Given the description of an element on the screen output the (x, y) to click on. 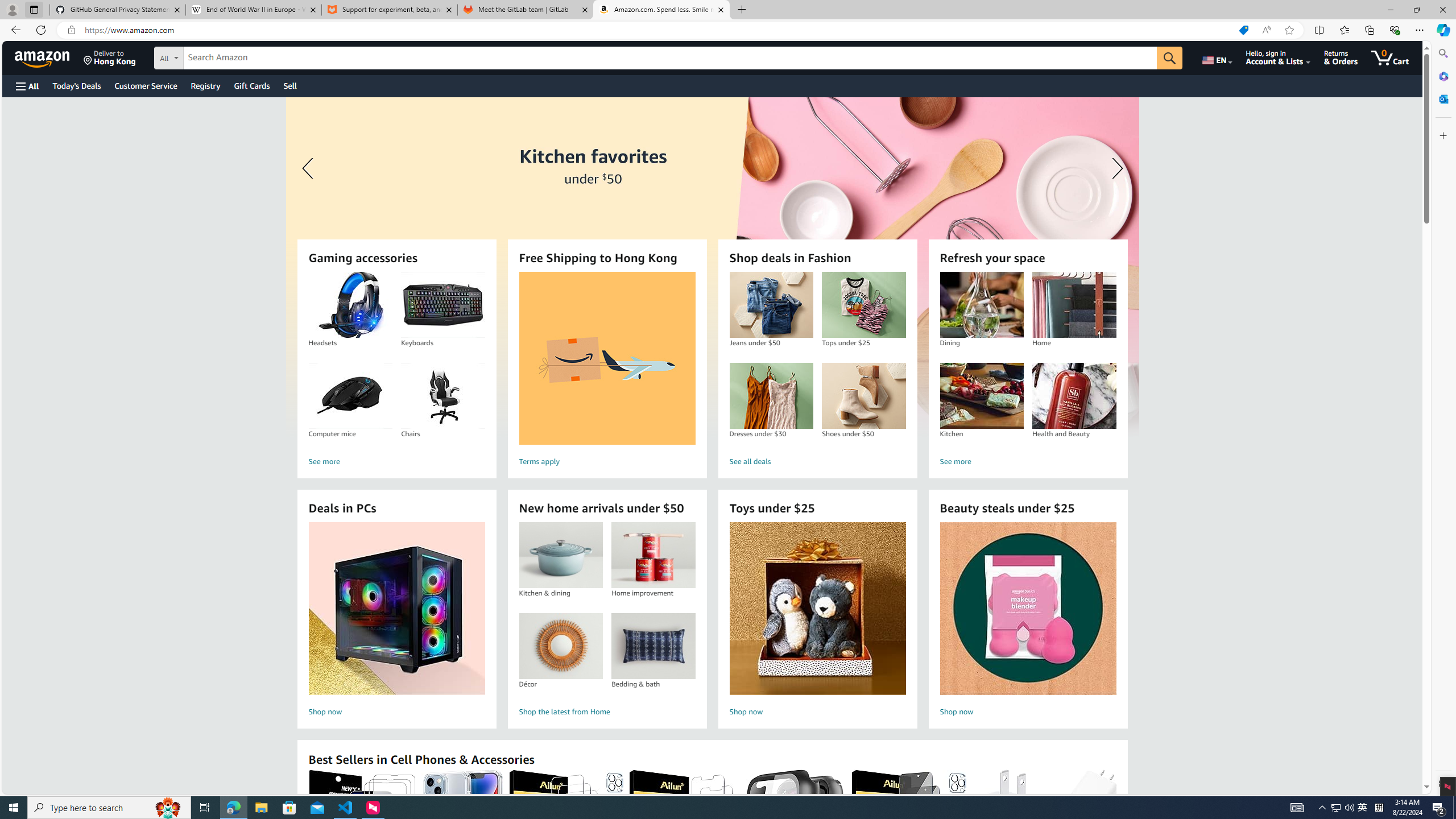
Kitchen (981, 395)
Home improvement (653, 555)
Amazon (43, 57)
Headsets (350, 304)
Skip to main content (48, 56)
Health and Beauty (1074, 395)
Side bar (1443, 418)
Shoes under $50 (863, 395)
Toys under $25 (818, 608)
End of World War II in Europe - Wikipedia (253, 9)
